Given the description of an element on the screen output the (x, y) to click on. 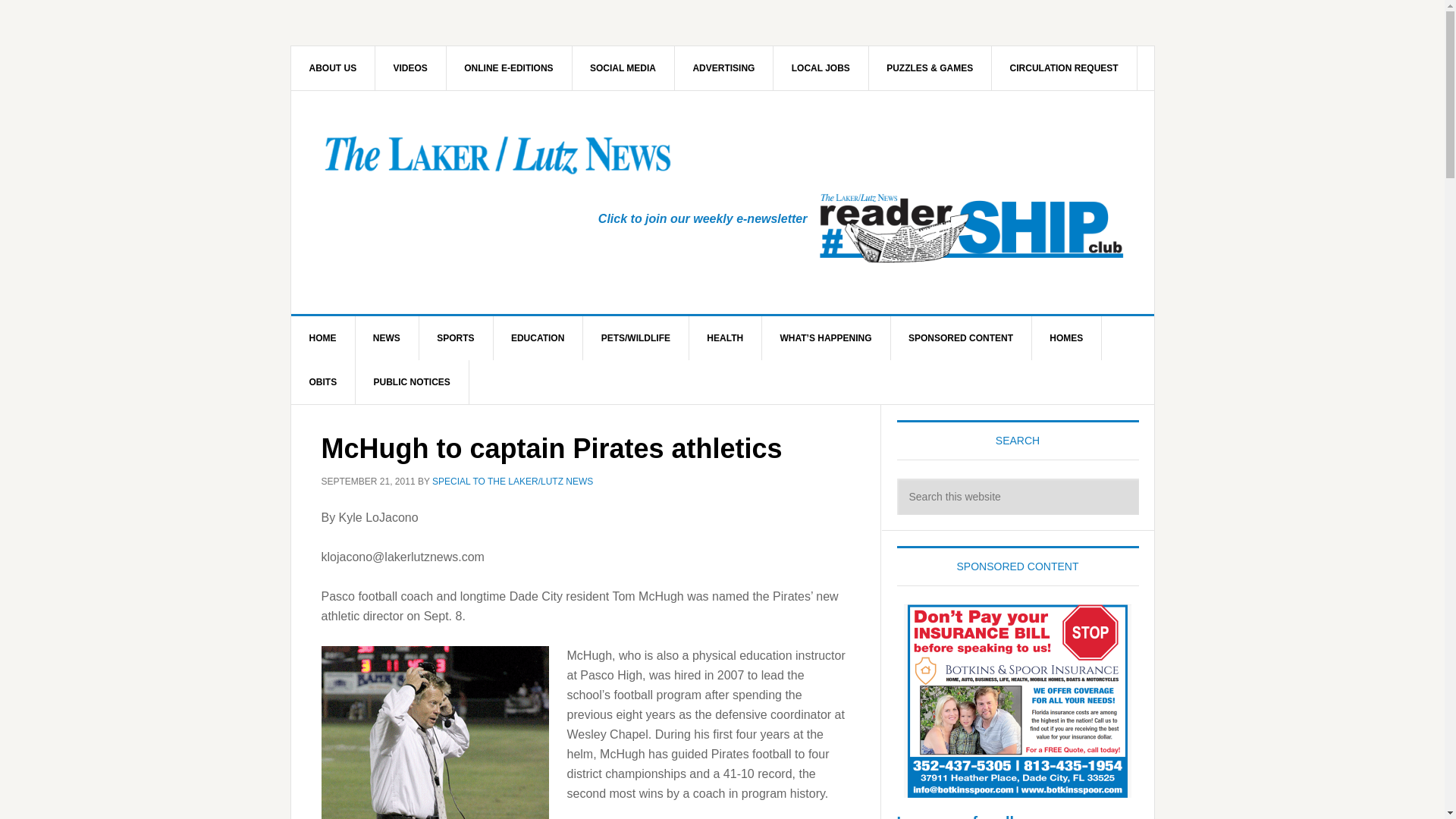
ADVERTISING (723, 67)
NEWS (387, 338)
LOCAL JOBS (821, 67)
CIRCULATION REQUEST (1064, 67)
VIDEOS (410, 67)
Tom-McHugh1 (434, 732)
ONLINE E-EDITIONS (508, 67)
HOME (323, 338)
ABOUT US (333, 67)
Click to join our weekly e-newsletter (703, 218)
